Given the description of an element on the screen output the (x, y) to click on. 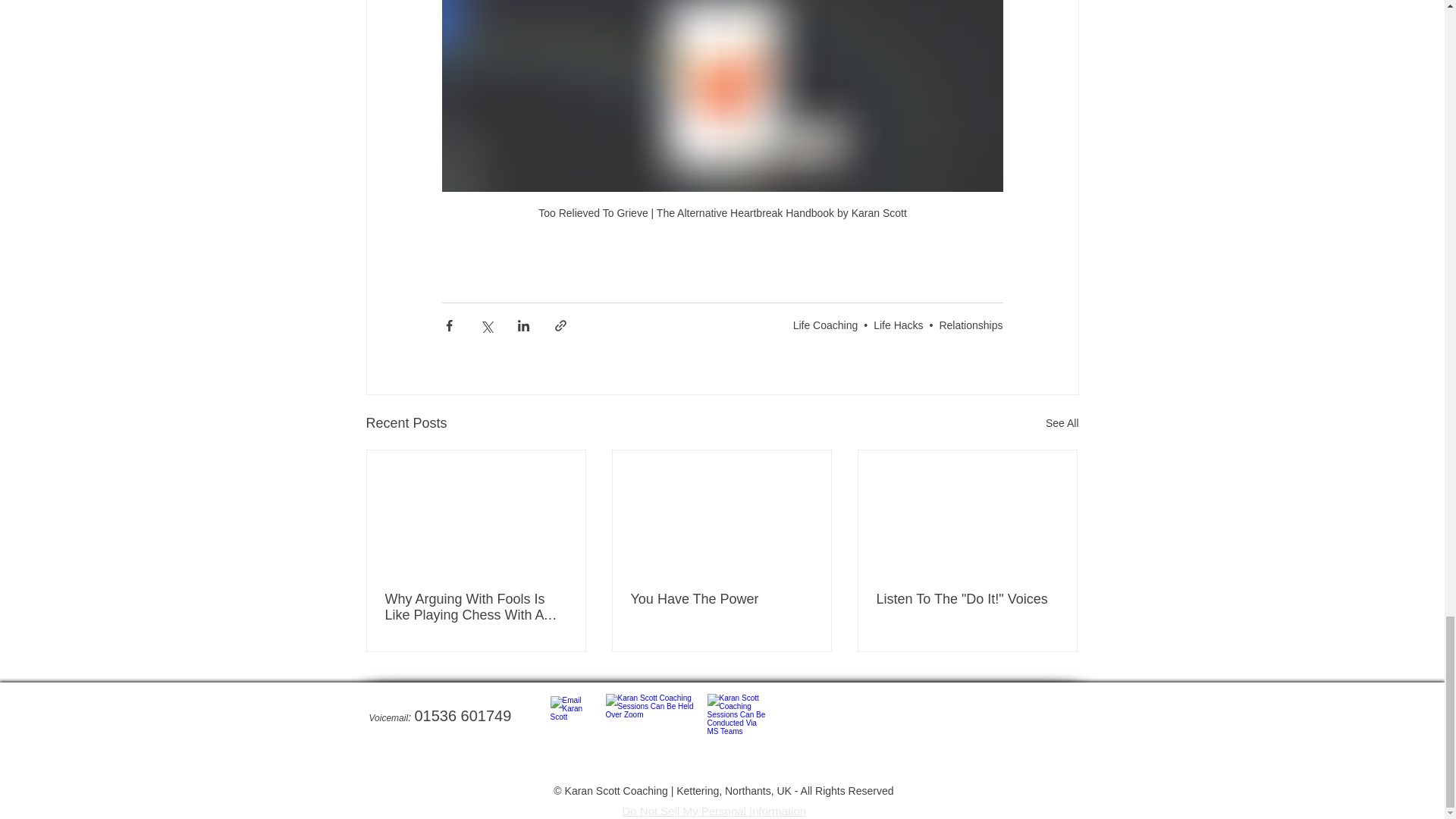
Karan Scott Coaching Sessions Can Be Conducted Via MS Teams (735, 720)
Email Karan (576, 723)
Karan Scott Coaching Sessions Can Be Held Over Zoom (653, 720)
